Given the description of an element on the screen output the (x, y) to click on. 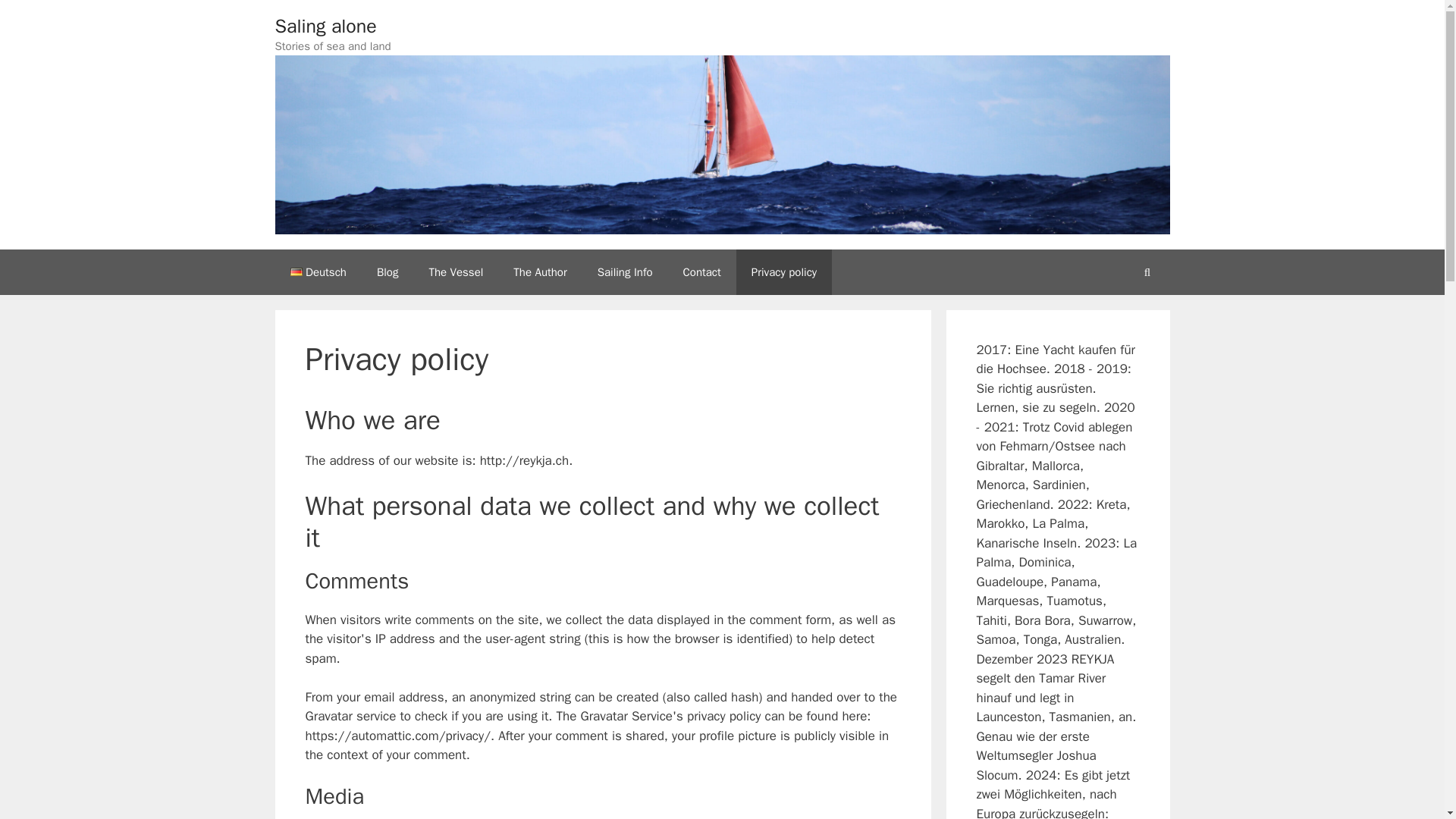
Saling alone (325, 25)
Privacy policy (783, 271)
The Vessel (455, 271)
Sailing Info (625, 271)
Blog (387, 271)
The Author (538, 271)
Contact (702, 271)
Deutsch (318, 271)
